Given the description of an element on the screen output the (x, y) to click on. 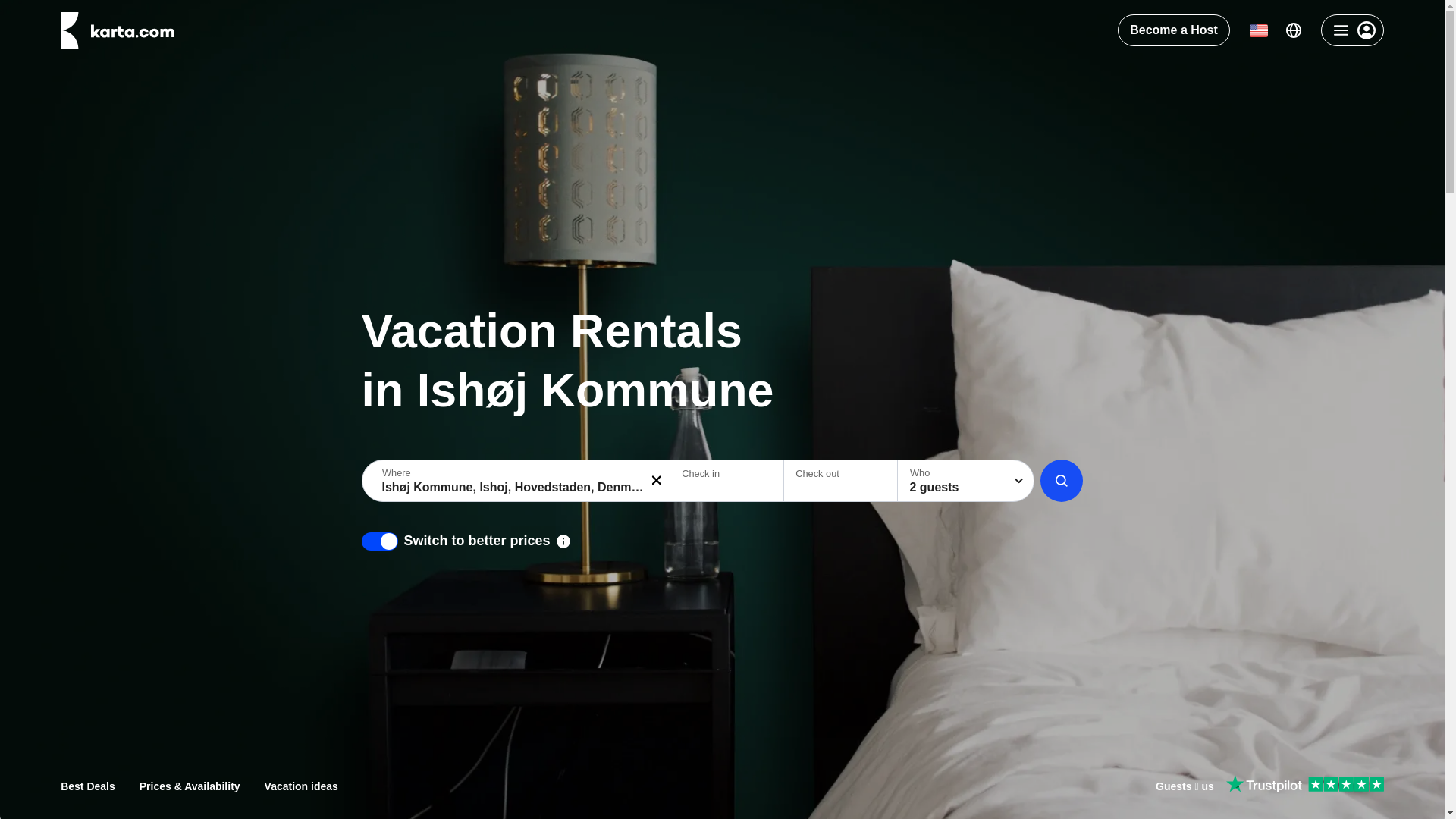
2 guests (966, 480)
Vacation ideas (300, 785)
Become a Host (1174, 29)
Best Deals (88, 785)
2 guests (966, 480)
